Given the description of an element on the screen output the (x, y) to click on. 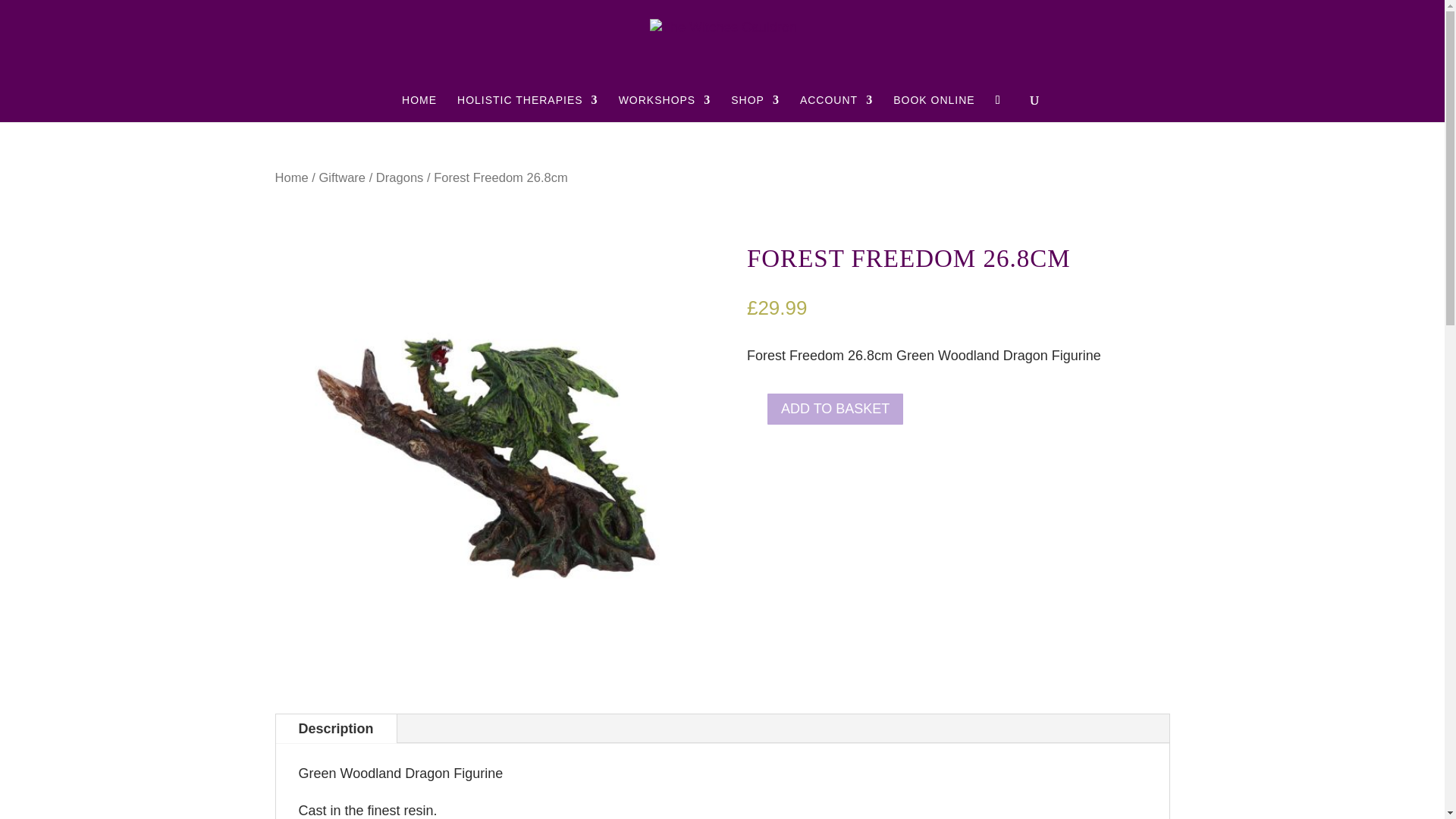
ACCOUNT (835, 108)
Home (291, 177)
HOLISTIC THERAPIES (527, 108)
WORKSHOPS (664, 108)
ADD TO BASKET (834, 408)
Dragons (399, 177)
SHOP (754, 108)
BOOK ONLINE (933, 108)
Giftware (341, 177)
HOME (418, 108)
